Given the description of an element on the screen output the (x, y) to click on. 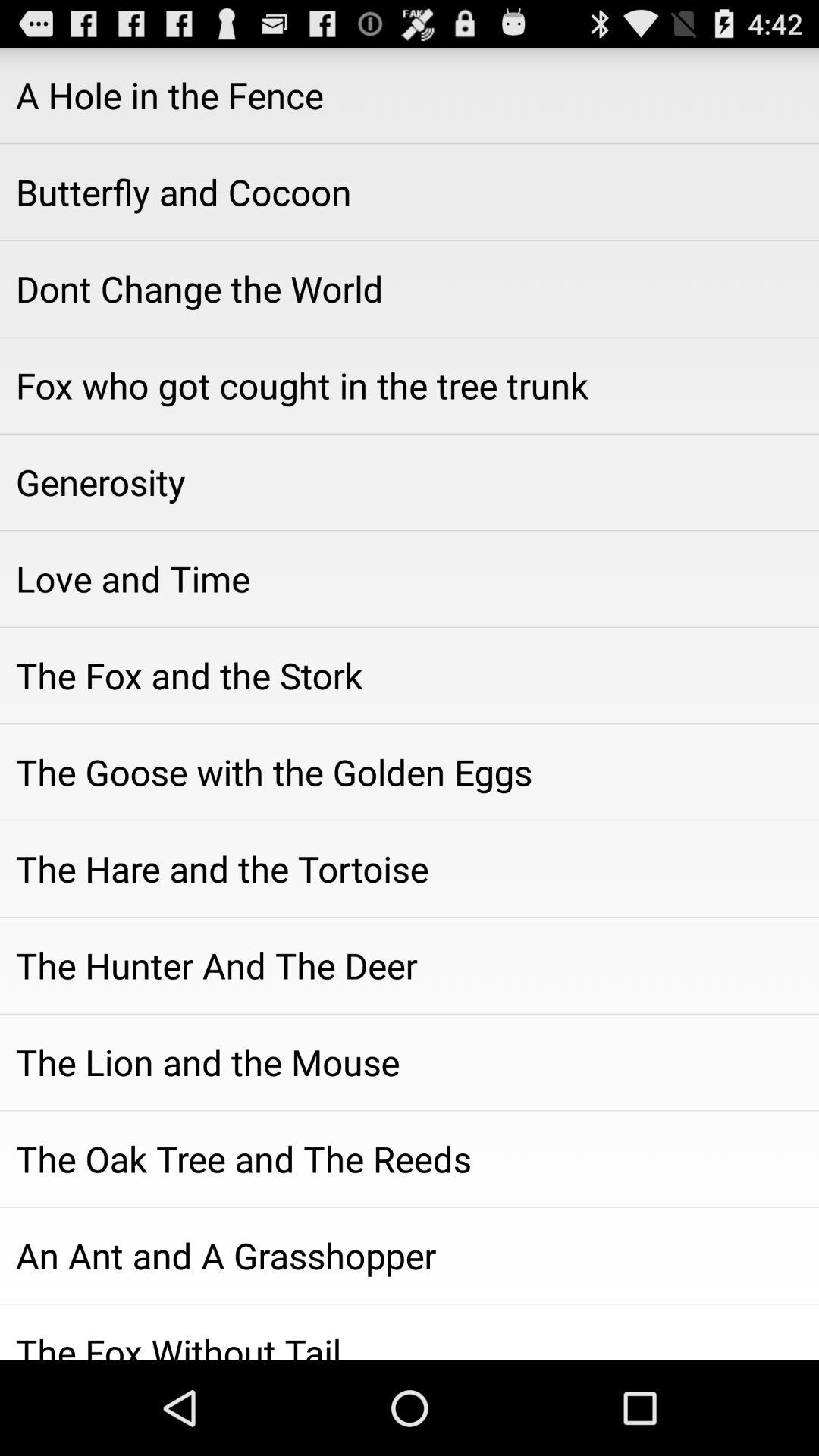
turn off icon above the dont change the icon (409, 192)
